Given the description of an element on the screen output the (x, y) to click on. 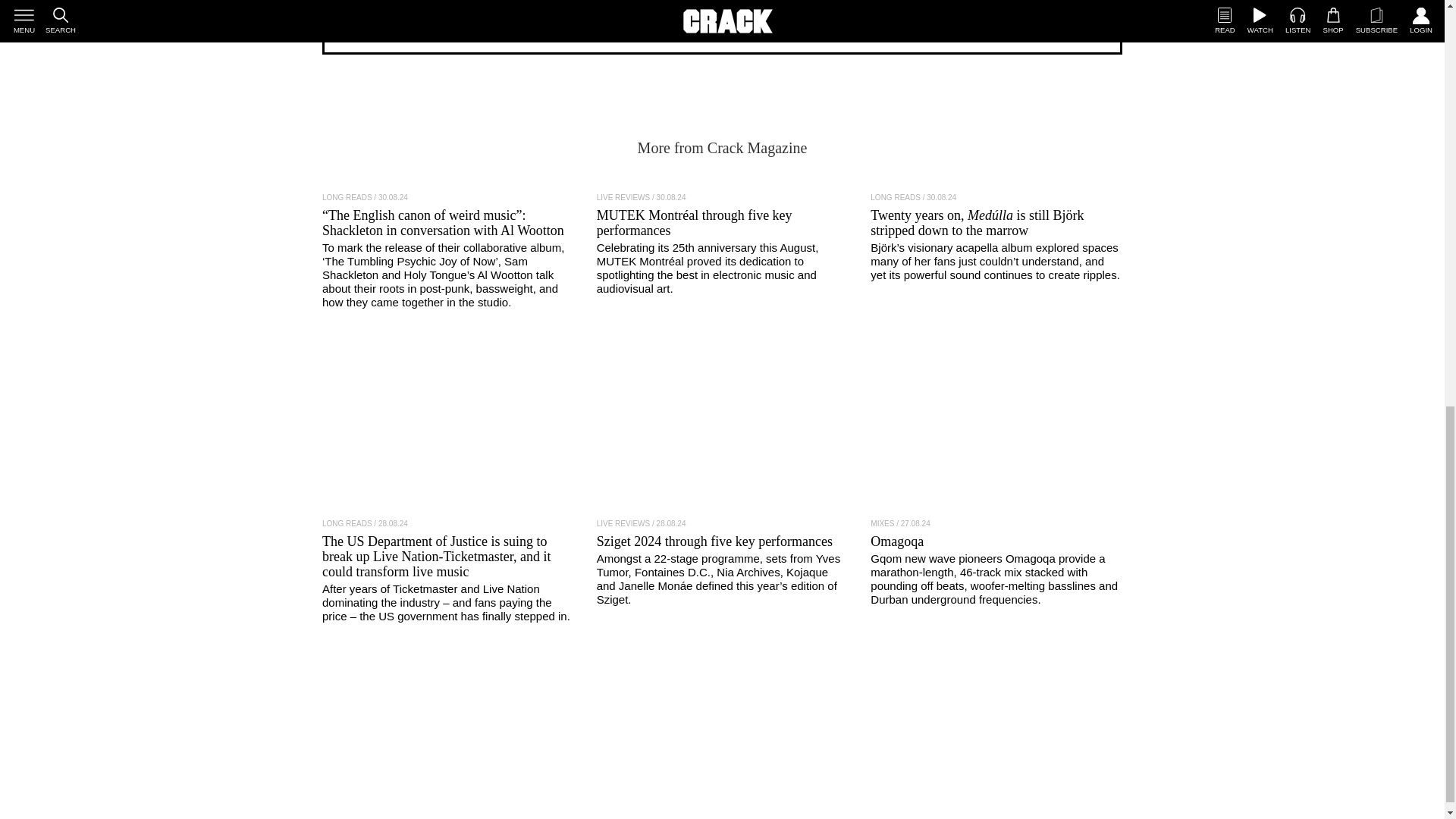
View all posts in Long Reads (346, 523)
View all posts in Long Reads (895, 197)
View all posts in Long Reads (346, 197)
View all posts in Live Reviews (623, 523)
View all posts in Mixes (881, 523)
View all posts in Live Reviews (623, 197)
